Given the description of an element on the screen output the (x, y) to click on. 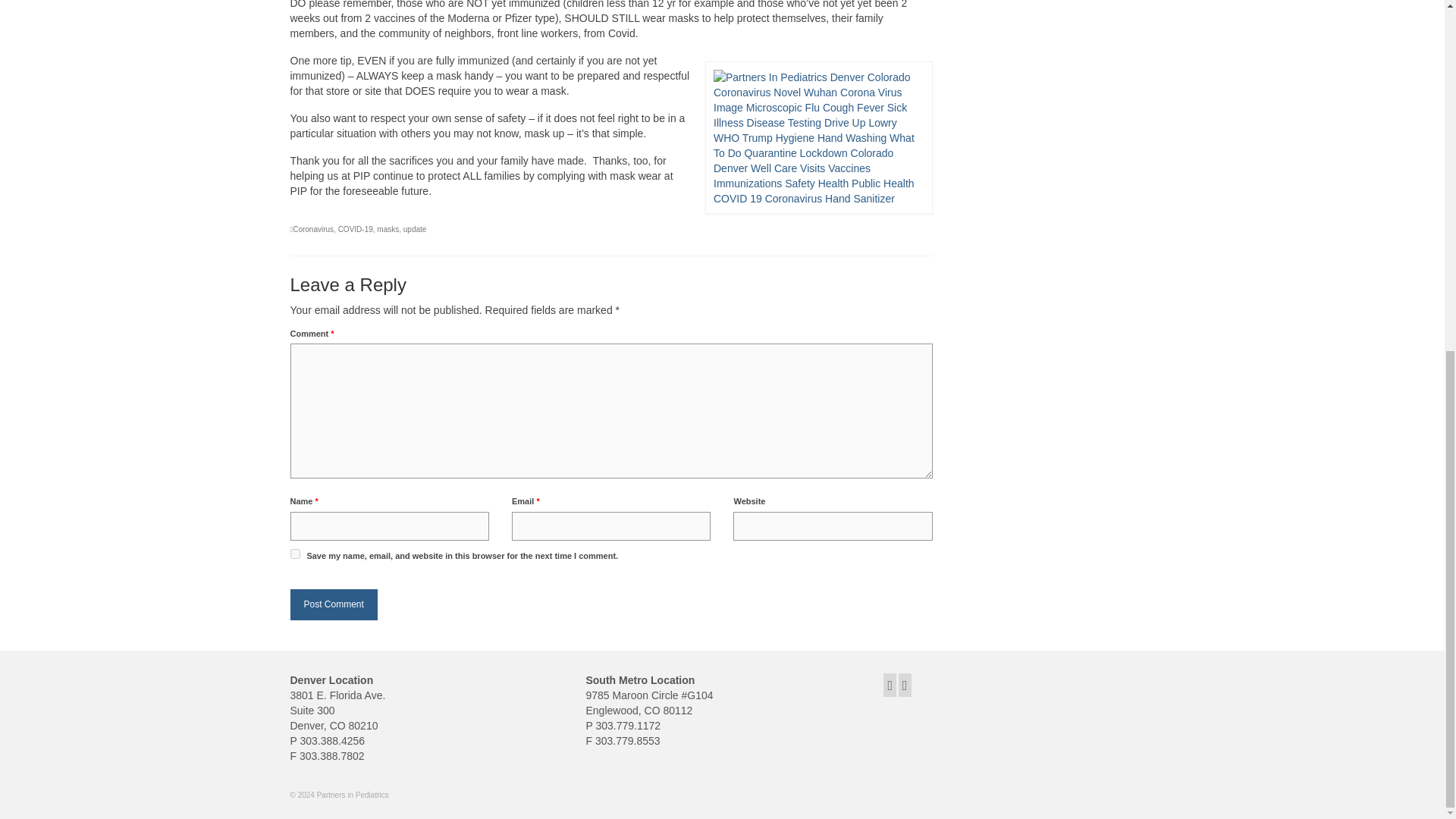
yes (294, 553)
Post Comment (333, 603)
